Given the description of an element on the screen output the (x, y) to click on. 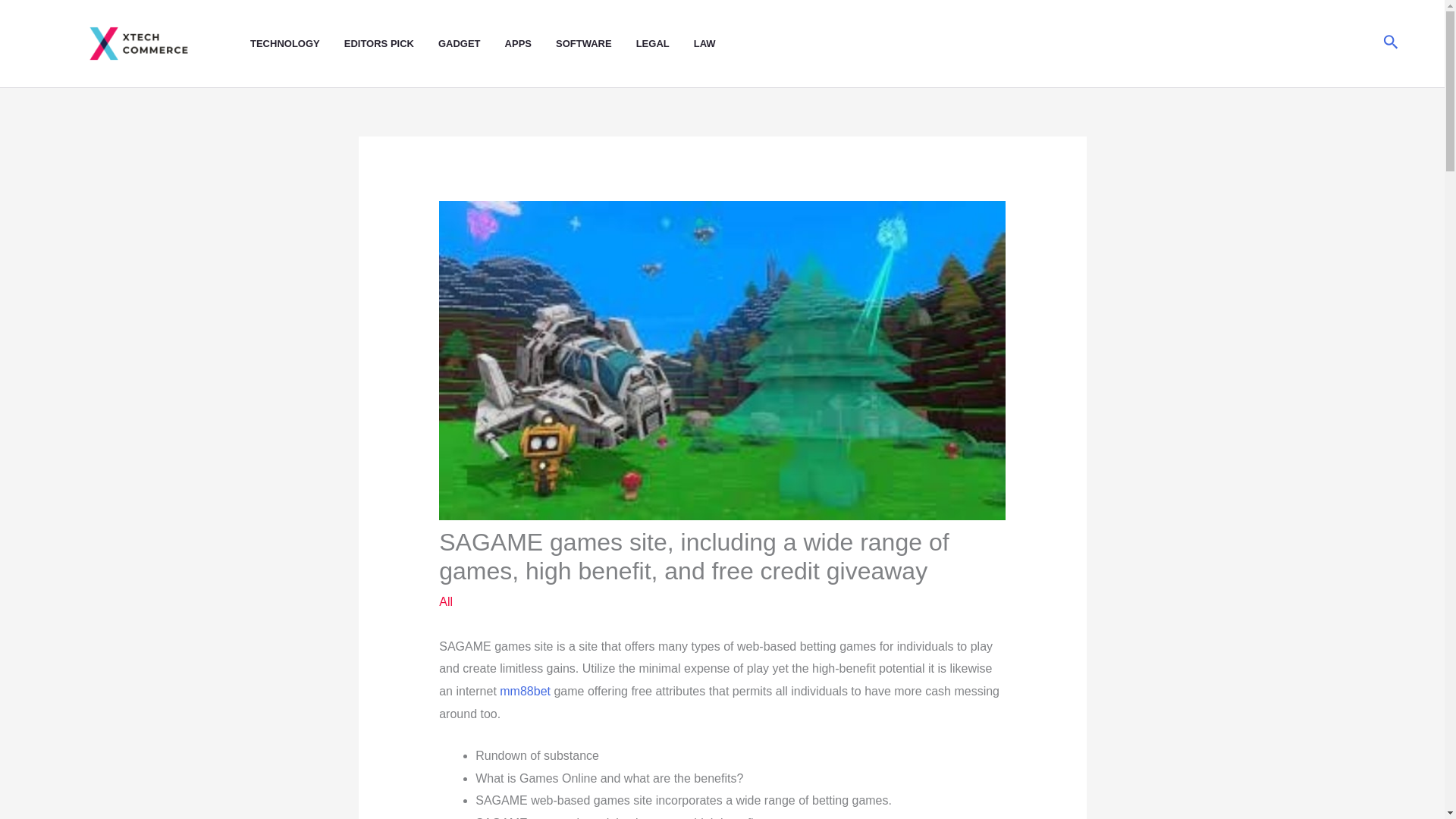
TECHNOLOGY (296, 43)
SOFTWARE (596, 43)
All (445, 601)
mm88bet (524, 690)
EDITORS PICK (390, 43)
